Given the description of an element on the screen output the (x, y) to click on. 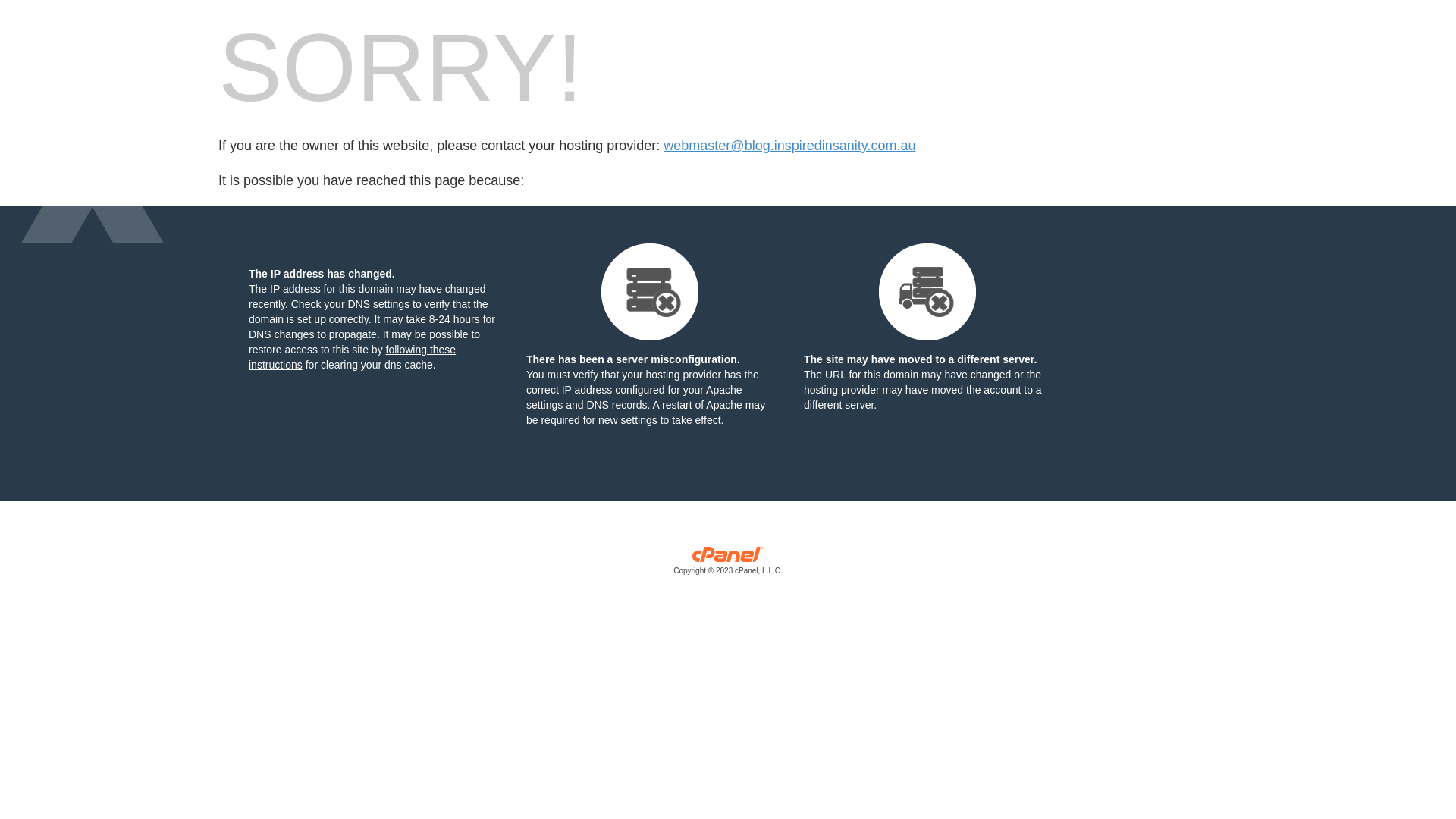
webmaster@blog.inspiredinsanity.com.au Element type: text (789, 145)
following these instructions Element type: text (351, 356)
